Given the description of an element on the screen output the (x, y) to click on. 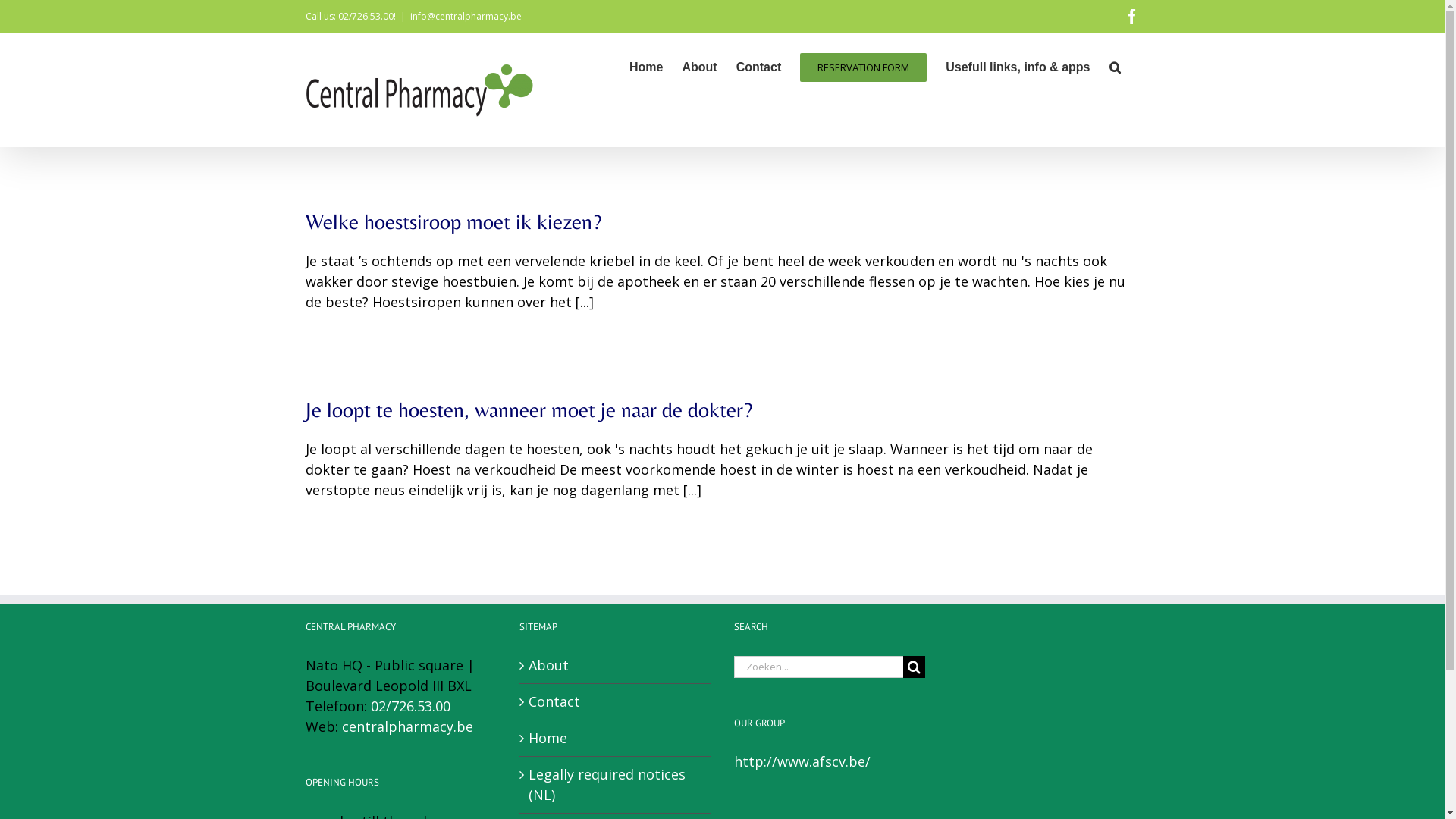
Je loopt te hoesten, wanneer moet je naar de dokter? Element type: text (527, 409)
Contact Element type: text (615, 701)
About Element type: text (698, 65)
centralpharmacy.be Element type: text (406, 726)
http://www.afscv.be/ Element type: text (802, 761)
Legally required notices (NL) Element type: text (615, 784)
Welke hoestsiroop moet ik kiezen? Element type: text (452, 221)
Home Element type: text (615, 738)
RESERVATION FORM Element type: text (863, 65)
Facebook Element type: text (1131, 16)
info@centralpharmacy.be Element type: text (464, 15)
About Element type: text (615, 665)
02/726.53.00 Element type: text (409, 705)
Home Element type: text (645, 65)
Zoeken Element type: hover (1114, 65)
Contact Element type: text (758, 65)
Usefull links, info & apps Element type: text (1017, 65)
